Given the description of an element on the screen output the (x, y) to click on. 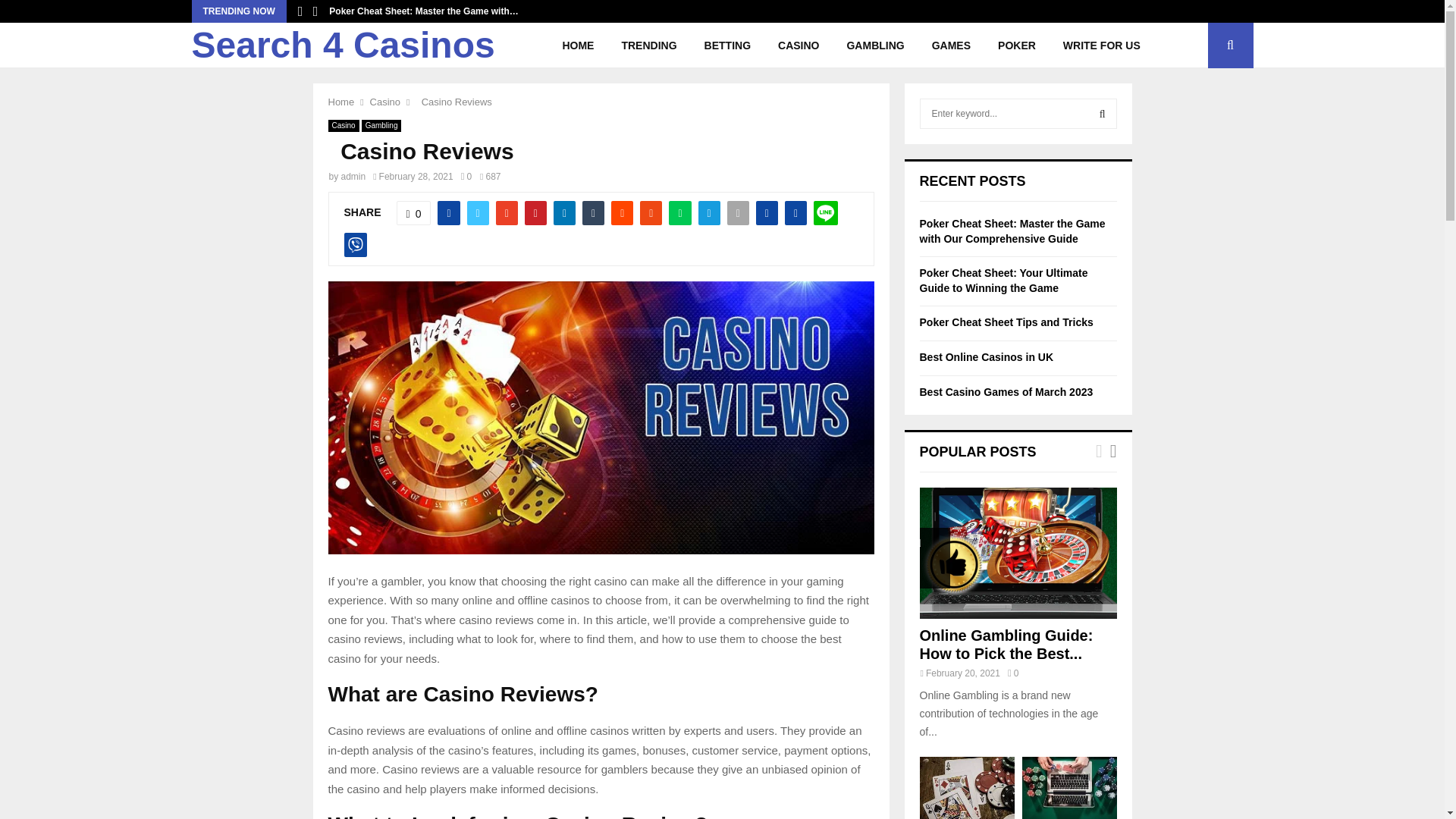
Casino (384, 101)
Search 4 Casinos (342, 44)
GAMBLING (874, 44)
WRITE FOR US (1101, 44)
BETTING (727, 44)
  Casino Reviews (453, 101)
TRENDING (648, 44)
Like (413, 212)
CASINO (798, 44)
HOME (577, 44)
GAMES (951, 44)
Home (340, 101)
POKER (1016, 44)
